Given the description of an element on the screen output the (x, y) to click on. 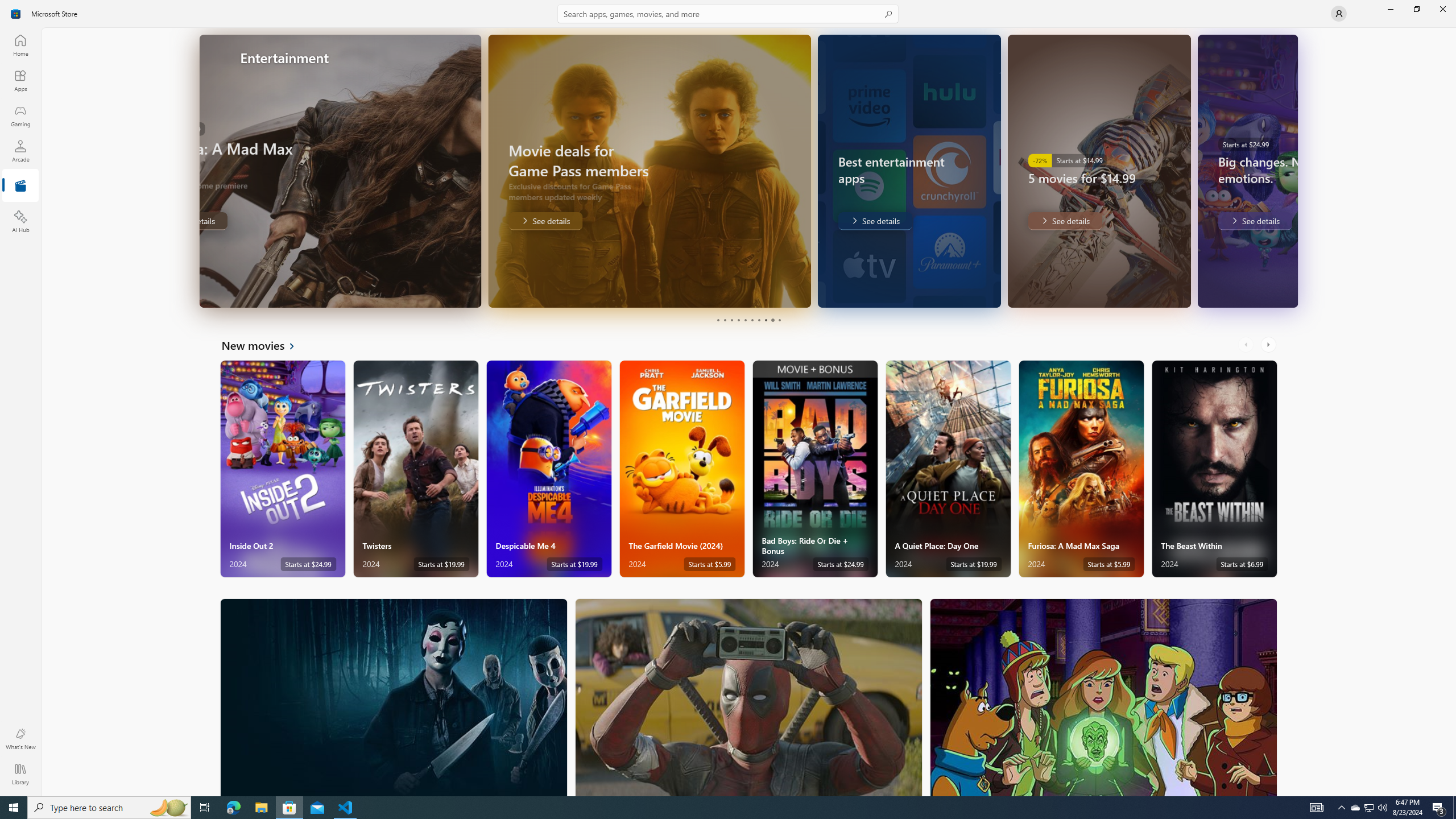
Page 10 (779, 319)
